Given the description of an element on the screen output the (x, y) to click on. 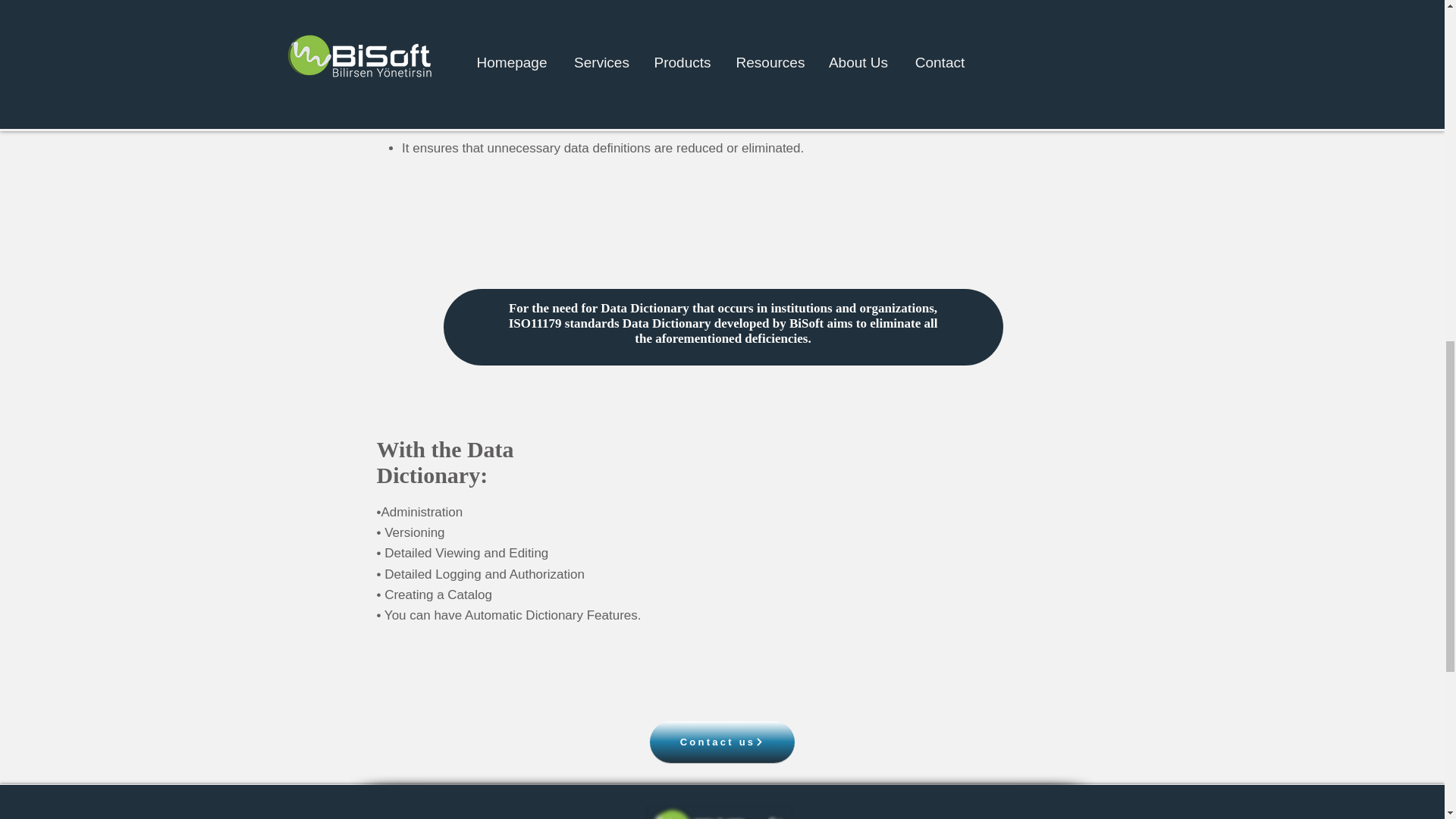
Contact us (721, 741)
